Given the description of an element on the screen output the (x, y) to click on. 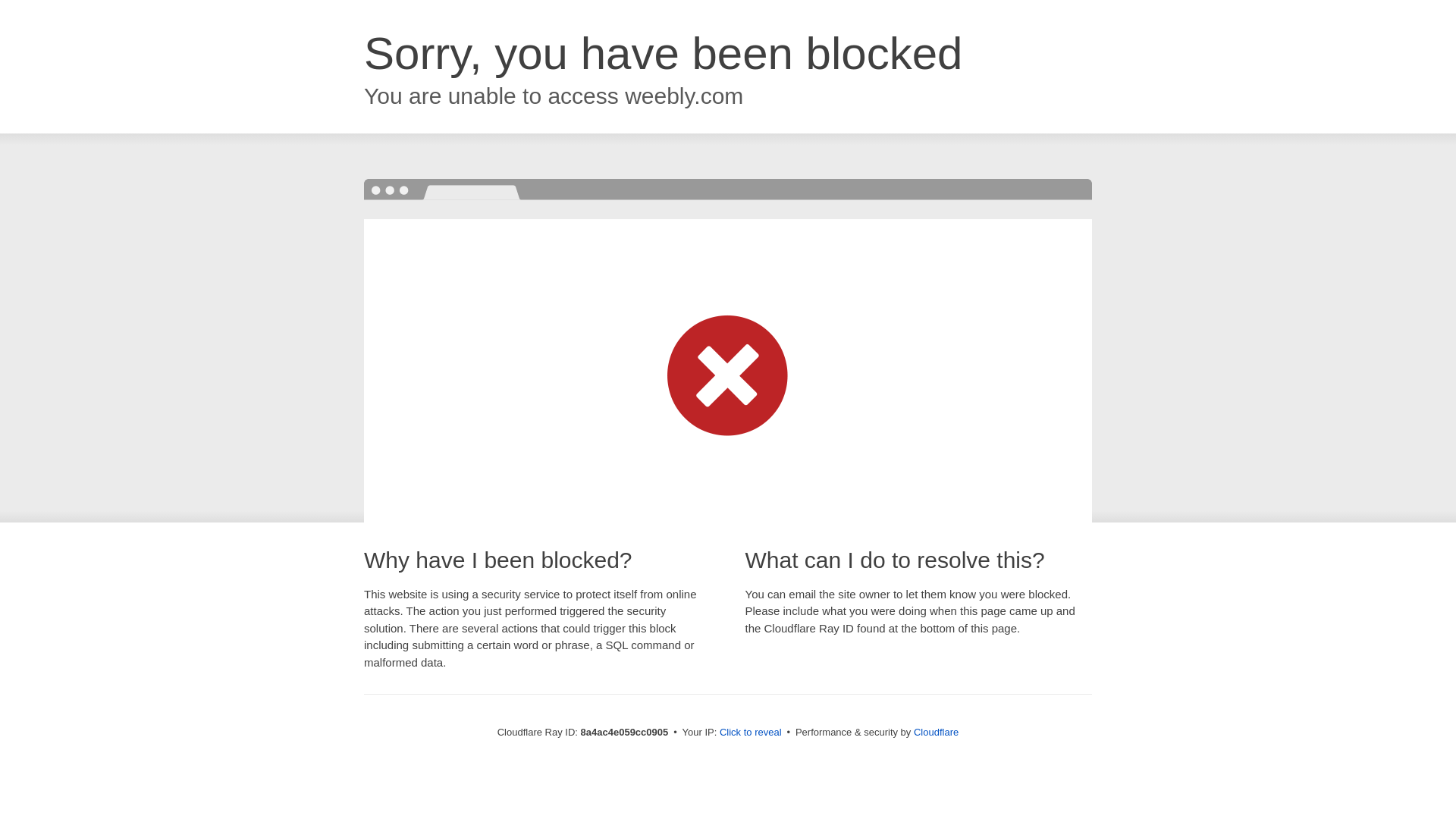
Click to reveal (750, 732)
Cloudflare (936, 731)
